Given the description of an element on the screen output the (x, y) to click on. 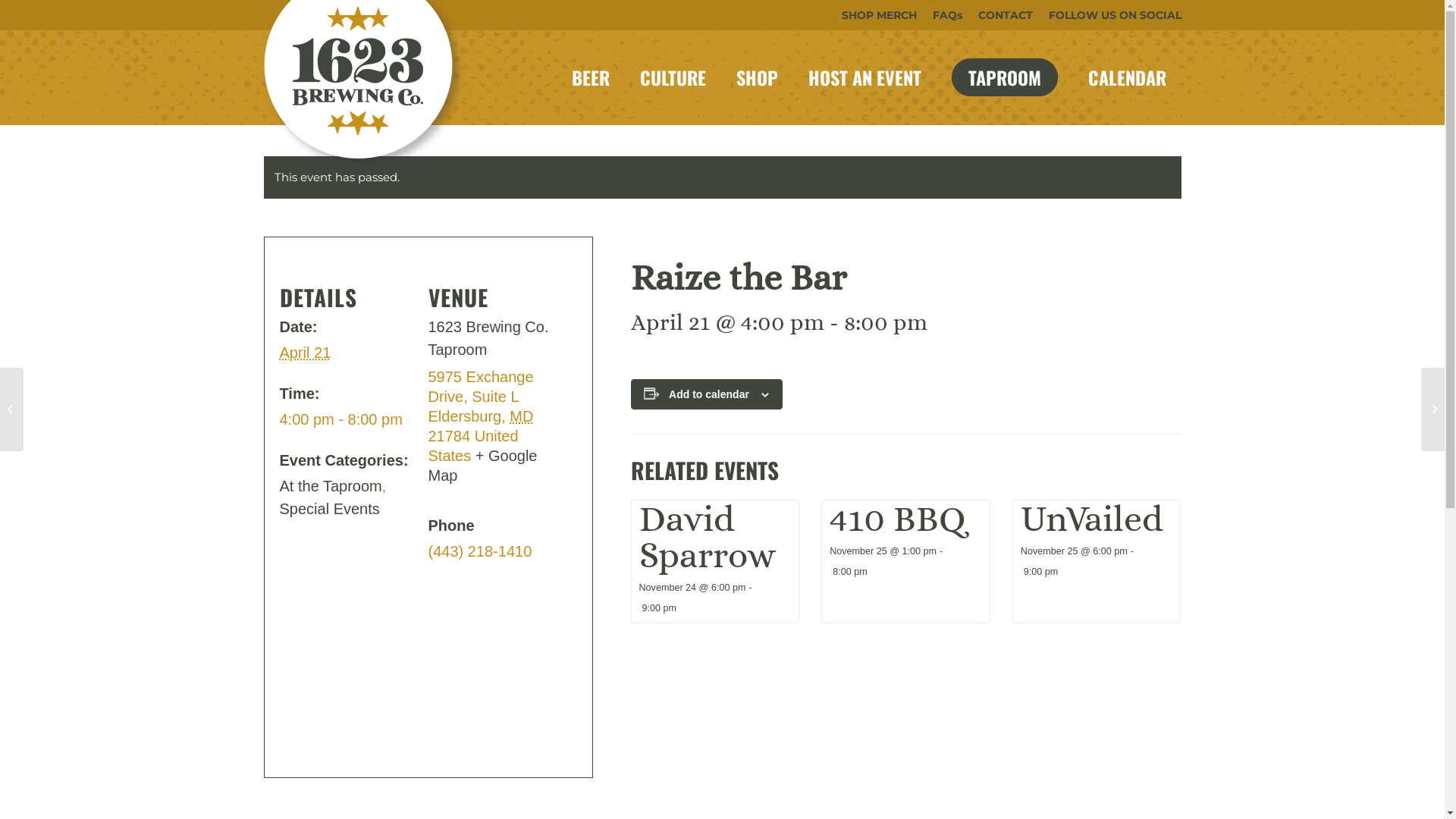
CONTACT Element type: text (1005, 14)
FAQs Element type: text (947, 14)
SHOP Element type: text (756, 77)
CALENDAR Element type: text (1126, 77)
1623-site-logo Element type: hover (363, 94)
SHOP MERCH Element type: text (878, 14)
BEER Element type: text (590, 77)
David Sparrow Element type: text (706, 536)
CULTURE Element type: text (672, 77)
At the Taproom Element type: text (330, 485)
UnVailed Element type: text (1091, 518)
Add to calendar Element type: text (708, 394)
410 BBQ Element type: text (897, 518)
+ Google Map Element type: text (481, 465)
TAPROOM Element type: text (1003, 77)
1623 Brewing Co. Taproom Element type: text (487, 337)
FOLLOW US ON SOCIAL Element type: text (1114, 14)
HOST AN EVENT Element type: text (864, 77)
Special Events Element type: text (329, 508)
